Given the description of an element on the screen output the (x, y) to click on. 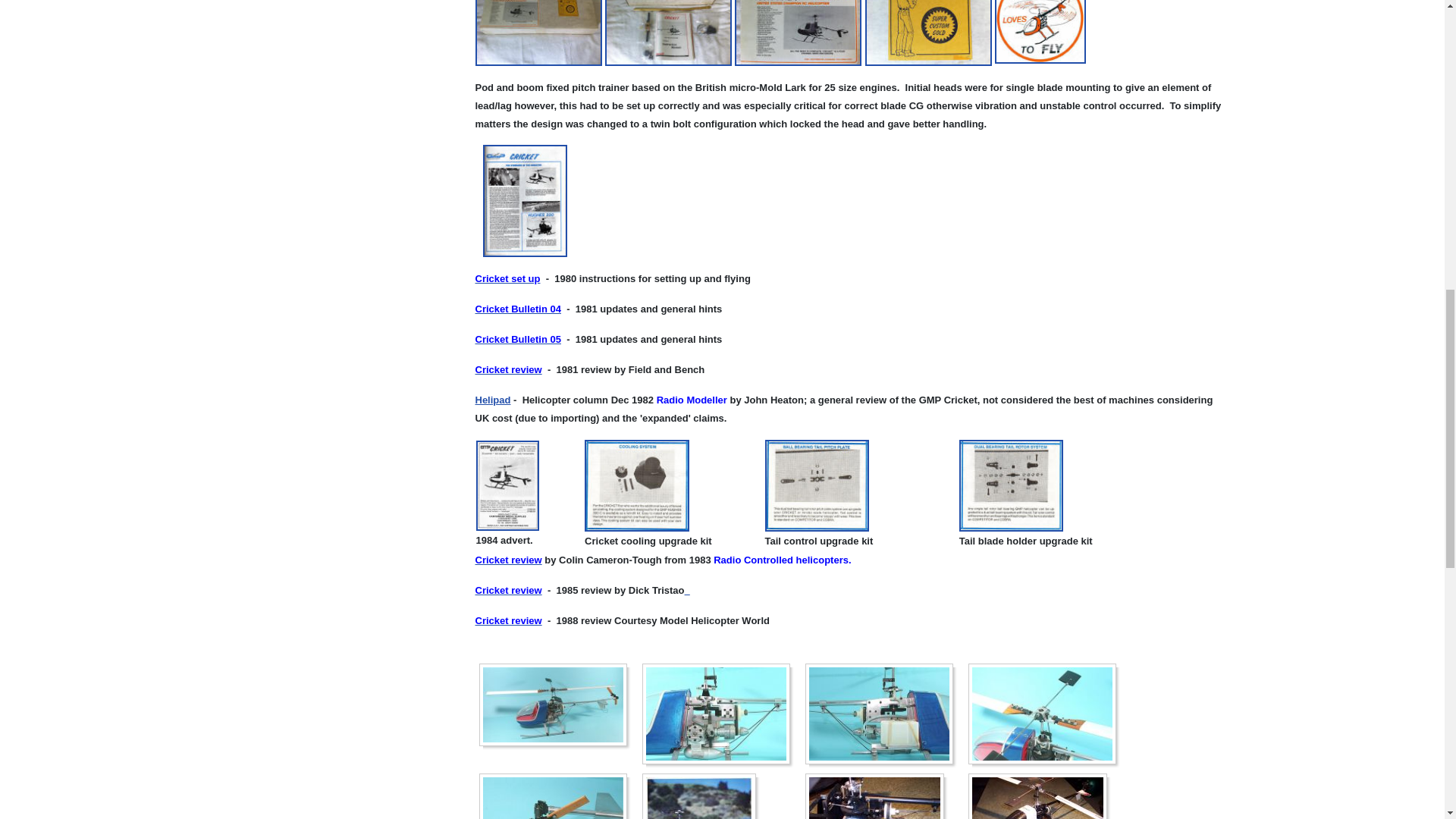
05a (553, 796)
02a (715, 713)
04a (1041, 713)
1983-09 - GMP Cricket hovering (698, 796)
03a (879, 713)
01a (553, 704)
